Given the description of an element on the screen output the (x, y) to click on. 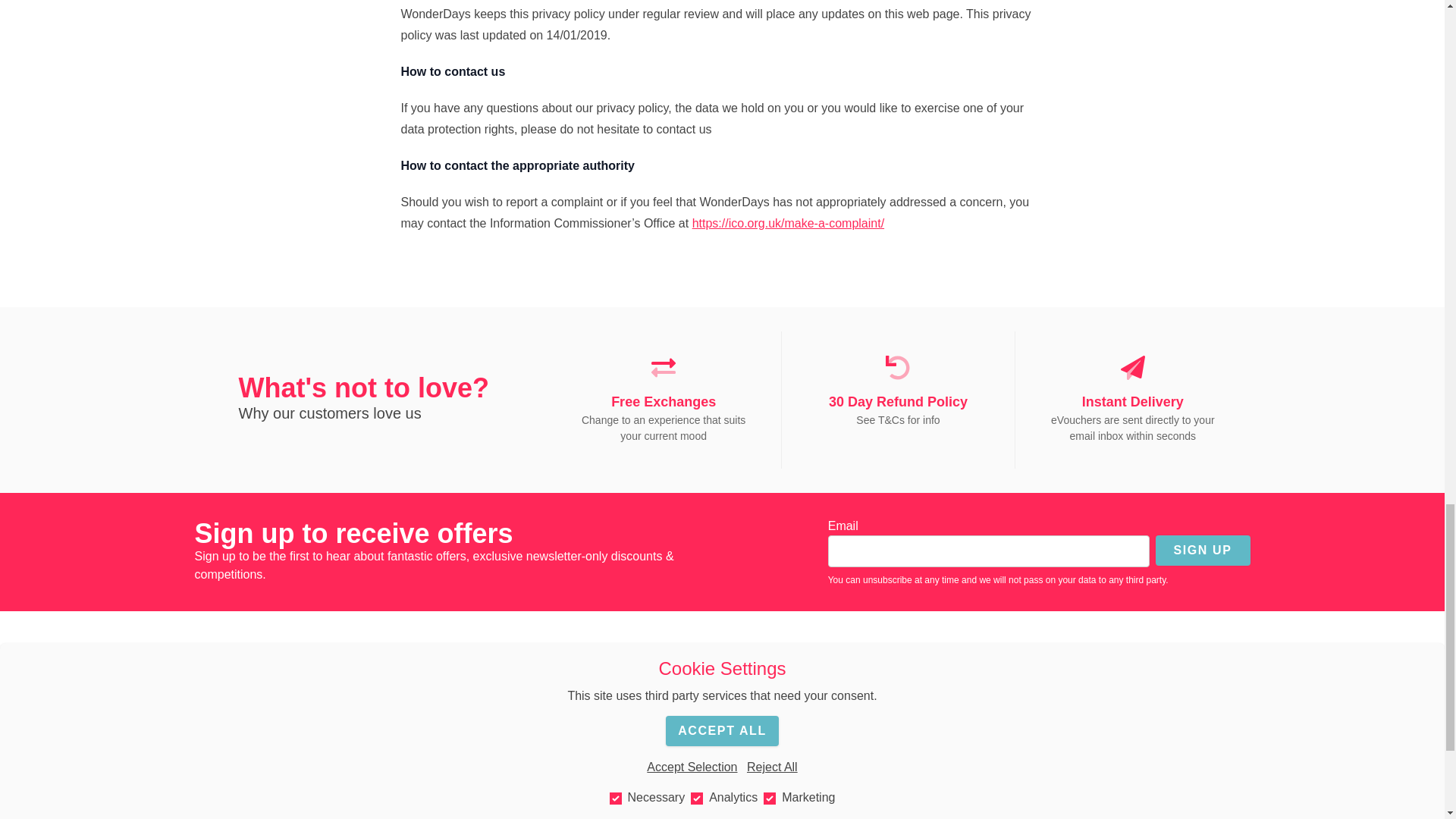
Sign Up (1203, 550)
